Given the description of an element on the screen output the (x, y) to click on. 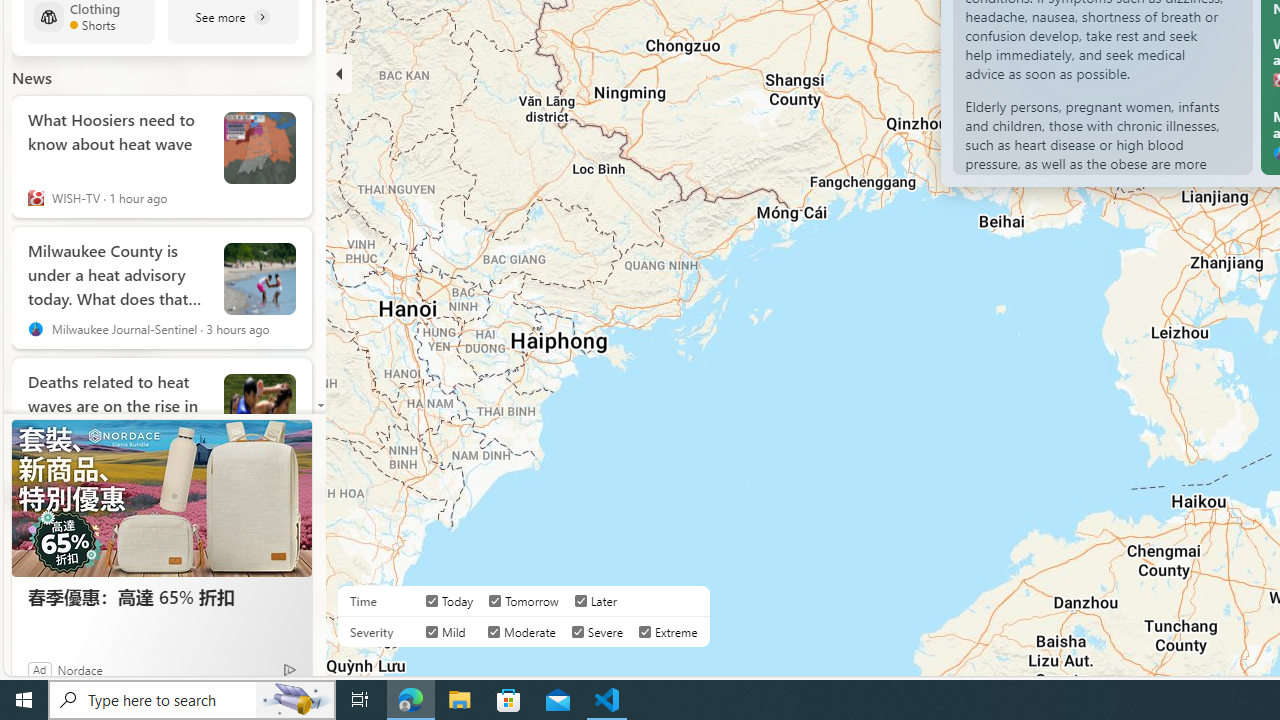
Deaths related to heat waves are on the rise in U.S. (117, 401)
Hide (339, 73)
Milwaukee Journal-Sentinel (35, 328)
